Given the description of an element on the screen output the (x, y) to click on. 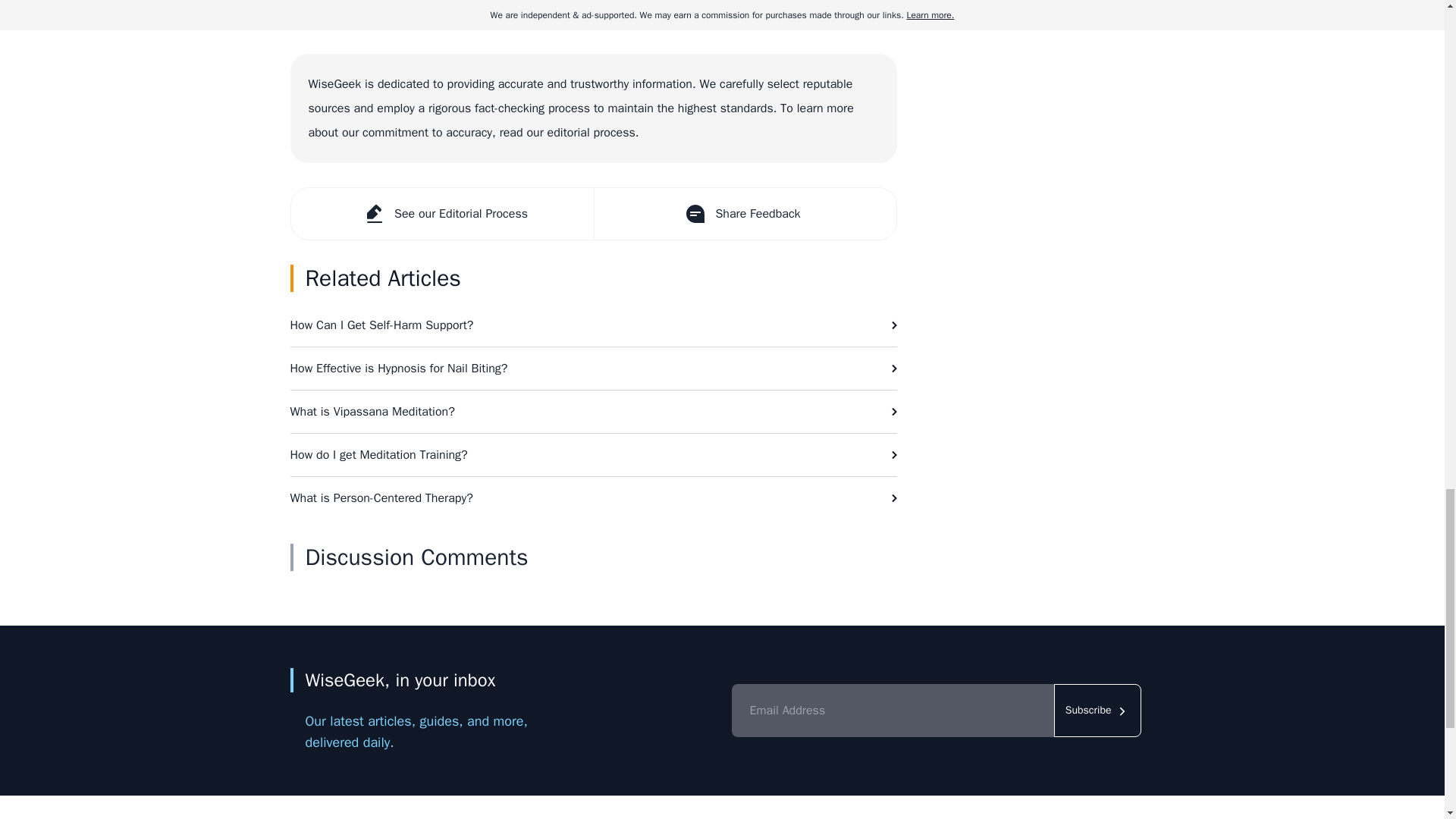
How Can I Get Self-Harm Support? (592, 324)
See our Editorial Process (442, 213)
How Effective is Hypnosis for Nail Biting? (592, 368)
How do I get Meditation Training? (592, 454)
Share Feedback (743, 213)
What is Vipassana Meditation? (592, 411)
What is Person-Centered Therapy? (592, 497)
Subscribe (1097, 710)
